Given the description of an element on the screen output the (x, y) to click on. 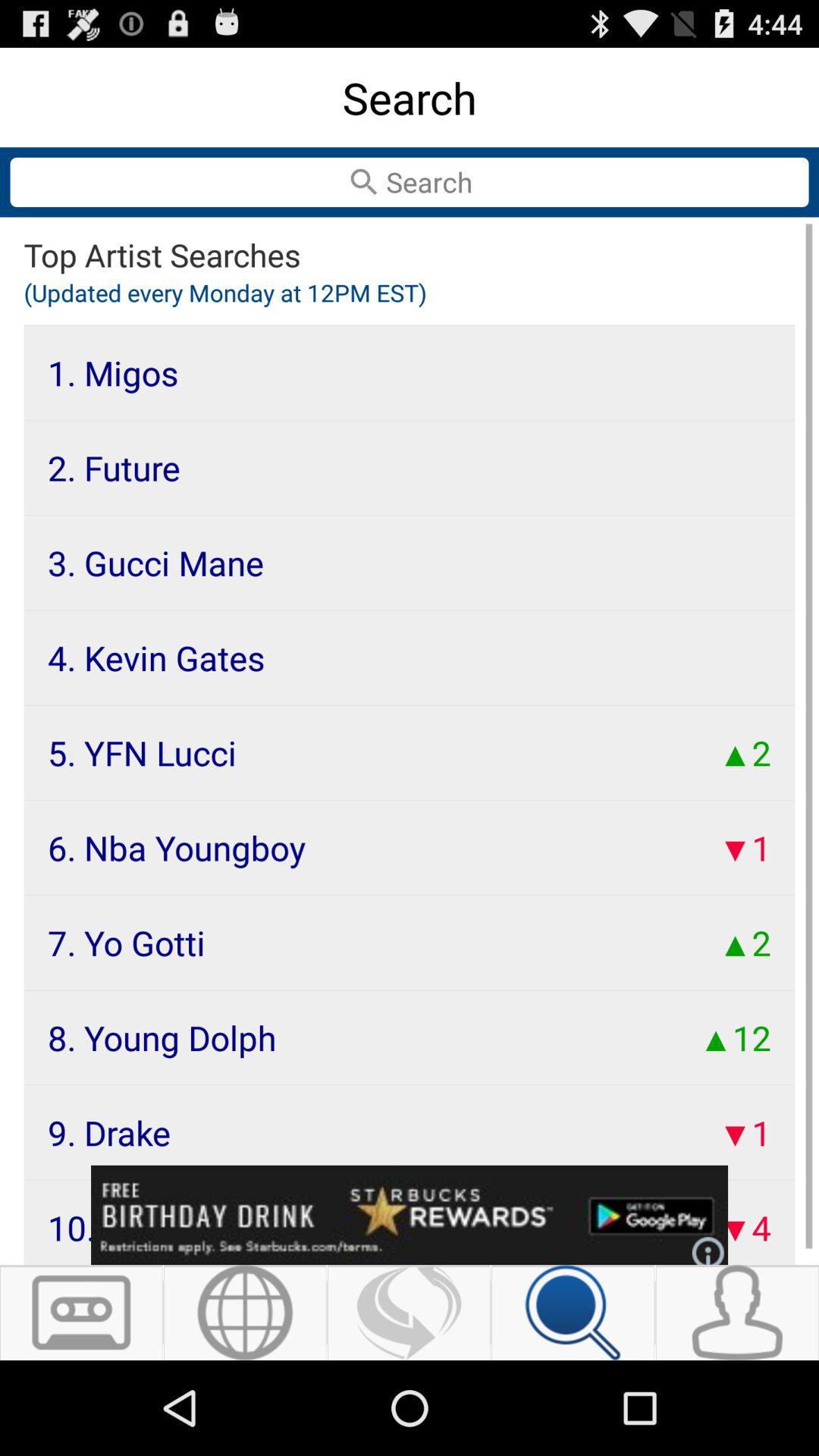
advertisement (409, 1214)
